Given the description of an element on the screen output the (x, y) to click on. 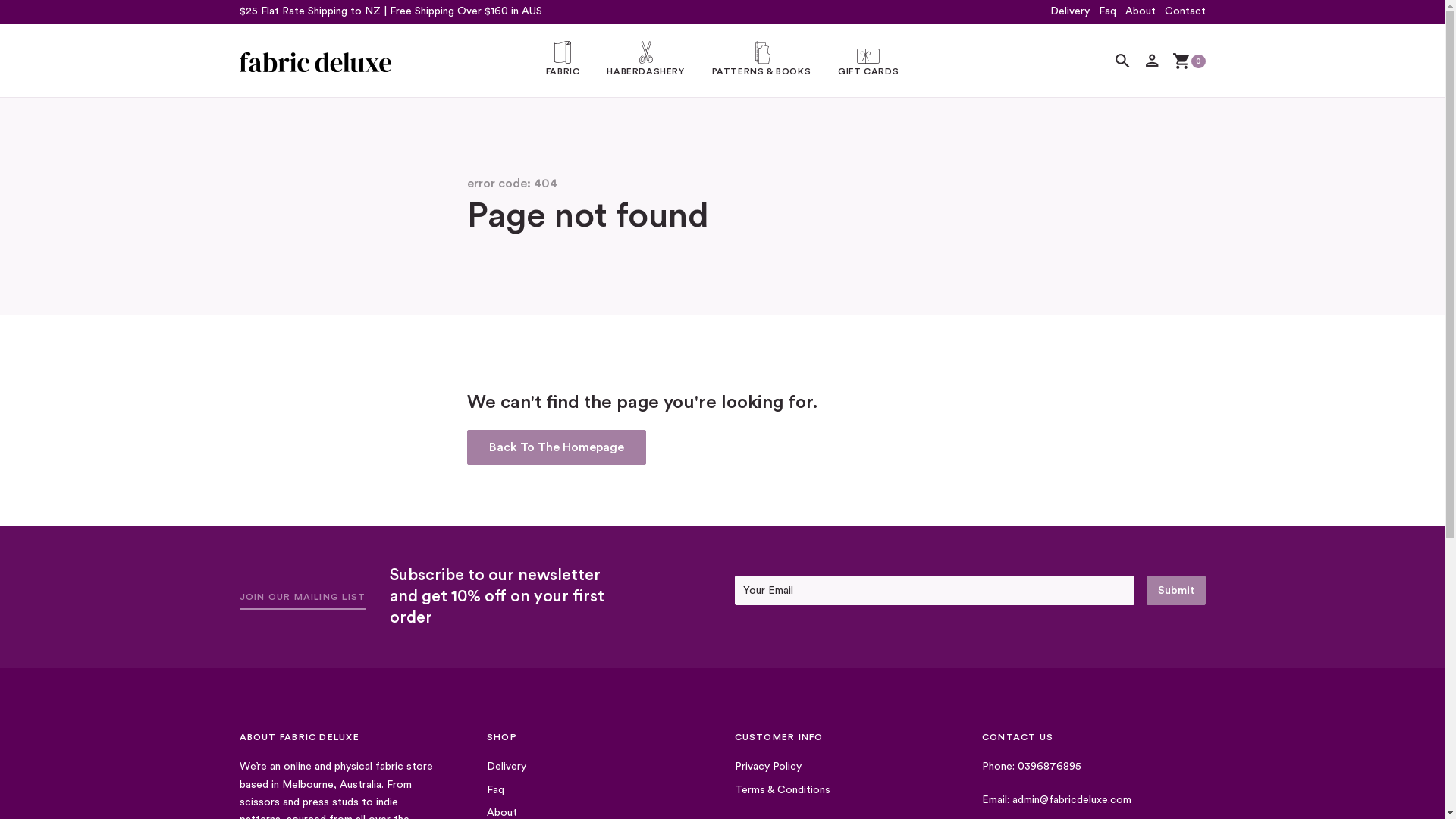
admin@fabricdeluxe.com Element type: text (1071, 800)
shopping_cart
0 Element type: text (1188, 61)
PATTERNS & BOOKS Element type: text (761, 60)
person Element type: text (1151, 66)
Contact Element type: text (1184, 12)
Faq Element type: text (1106, 12)
HABERDASHERY Element type: text (645, 60)
About Element type: text (1140, 12)
Terms & Conditions Element type: text (781, 790)
0396876895 Element type: text (1049, 766)
Submit Element type: text (1175, 590)
FABRIC Element type: text (563, 60)
Delivery Element type: text (506, 766)
Faq Element type: text (495, 790)
Delivery Element type: text (1068, 12)
Privacy Policy Element type: text (767, 766)
Back To The Homepage Element type: text (556, 446)
GIFT CARDS Element type: text (867, 61)
